Given the description of an element on the screen output the (x, y) to click on. 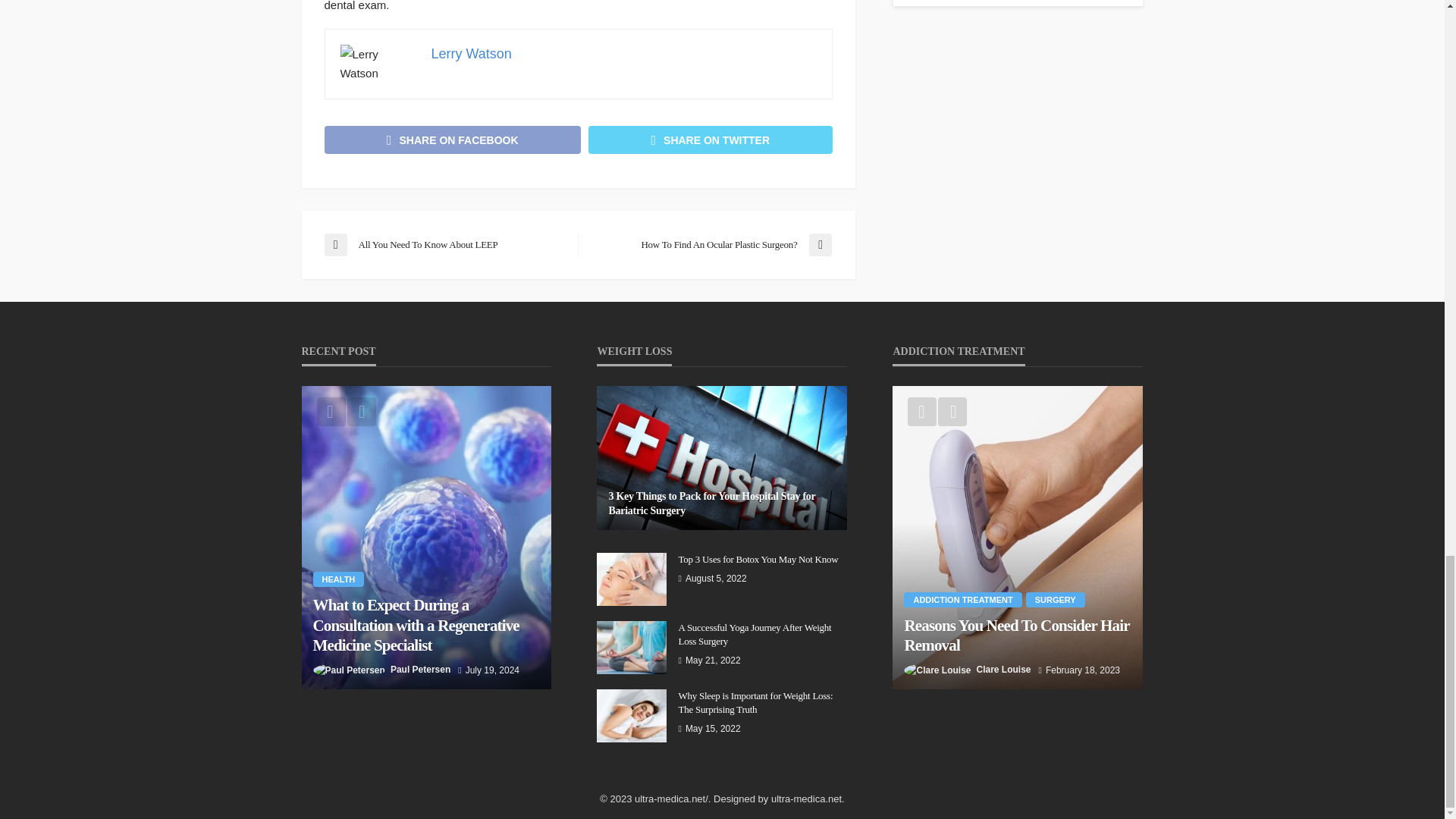
How To Find An Ocular Plastic Surgeon? (711, 244)
All You Need To Know About LEEP (443, 244)
